Given the description of an element on the screen output the (x, y) to click on. 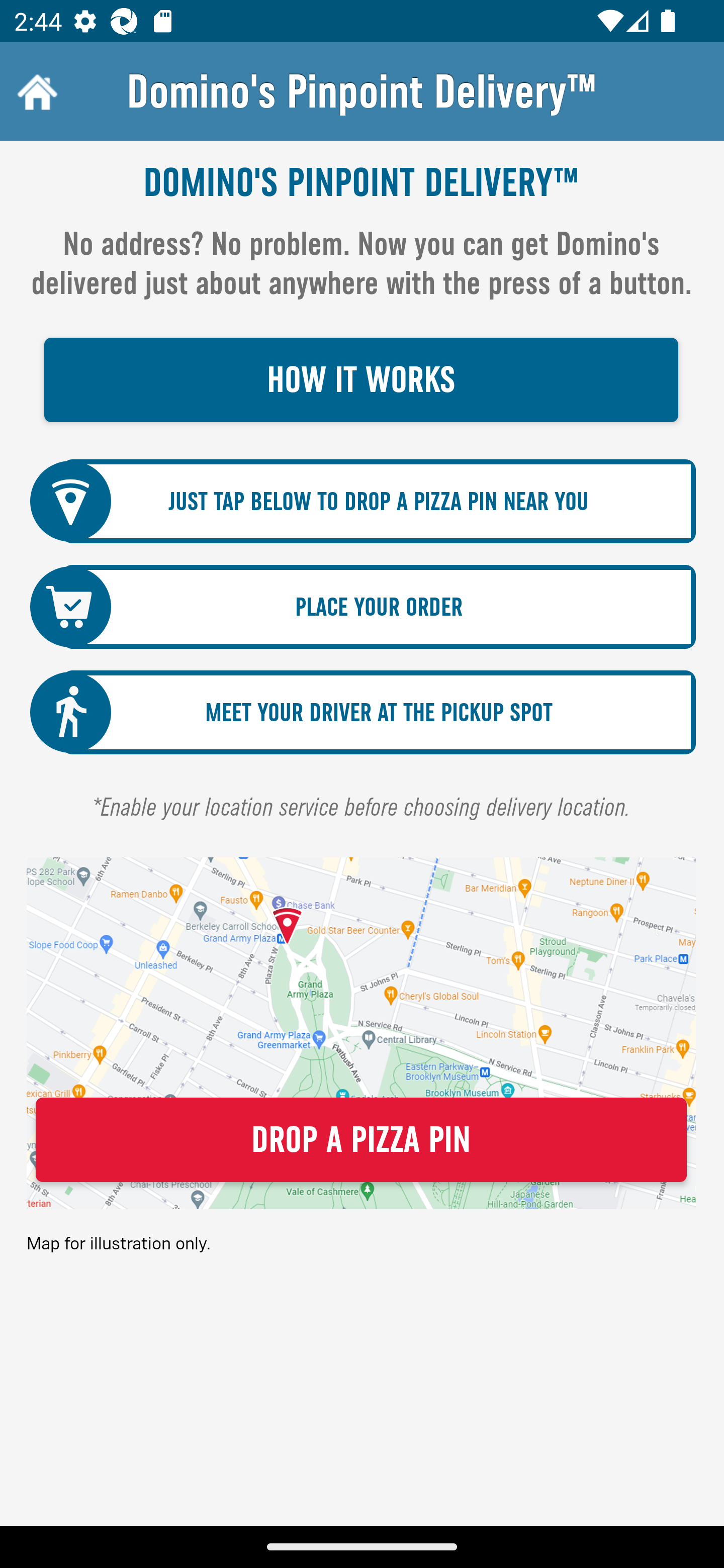
Home (35, 91)
DROP A PIZZA PIN (361, 1139)
